Given the description of an element on the screen output the (x, y) to click on. 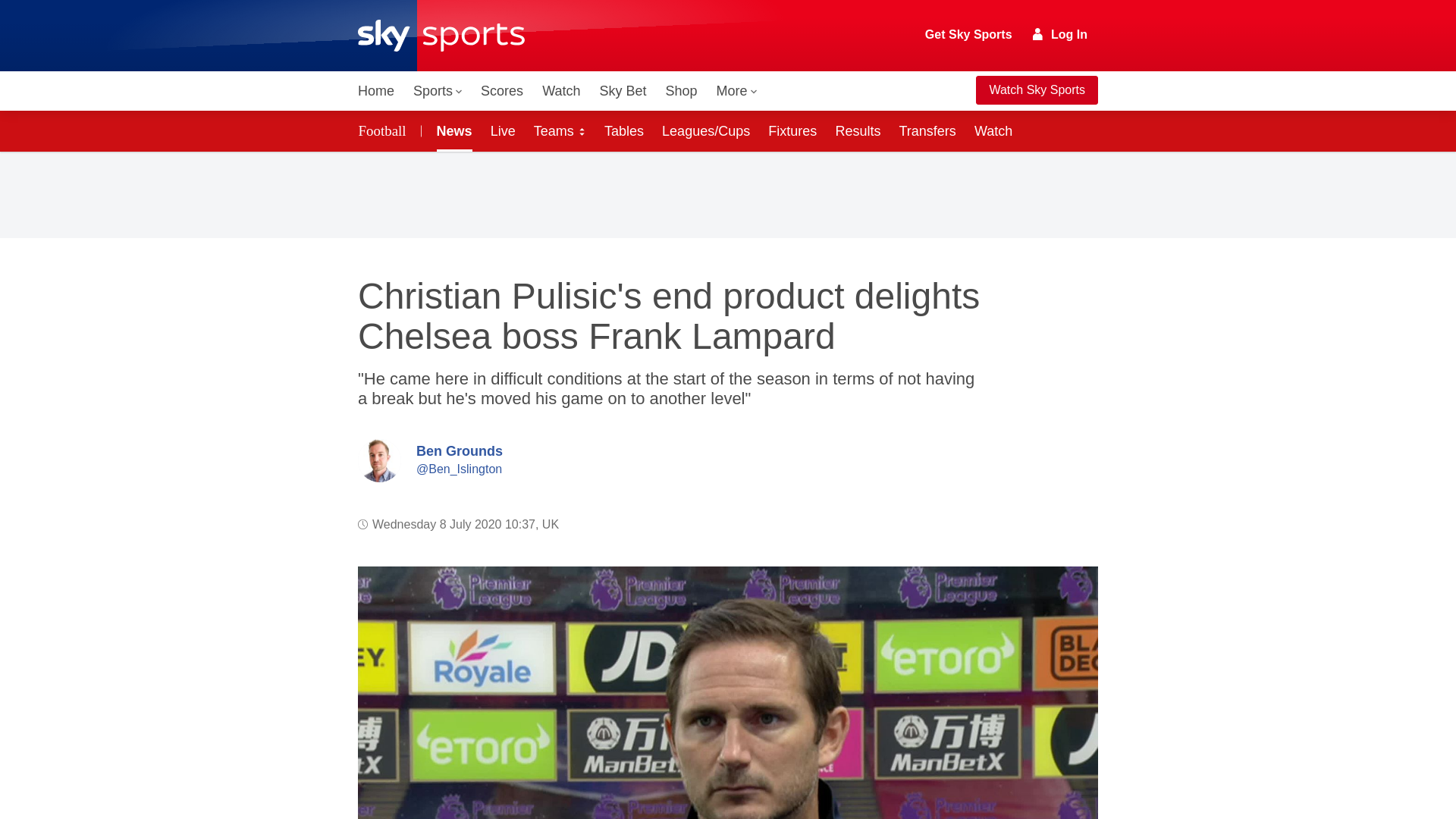
More (736, 91)
Watch (561, 91)
Home (375, 91)
News (451, 130)
Watch Sky Sports (1036, 90)
Get Sky Sports (968, 34)
Scores (502, 91)
Shop (681, 91)
Sky Bet (622, 91)
Sports (437, 91)
